Given the description of an element on the screen output the (x, y) to click on. 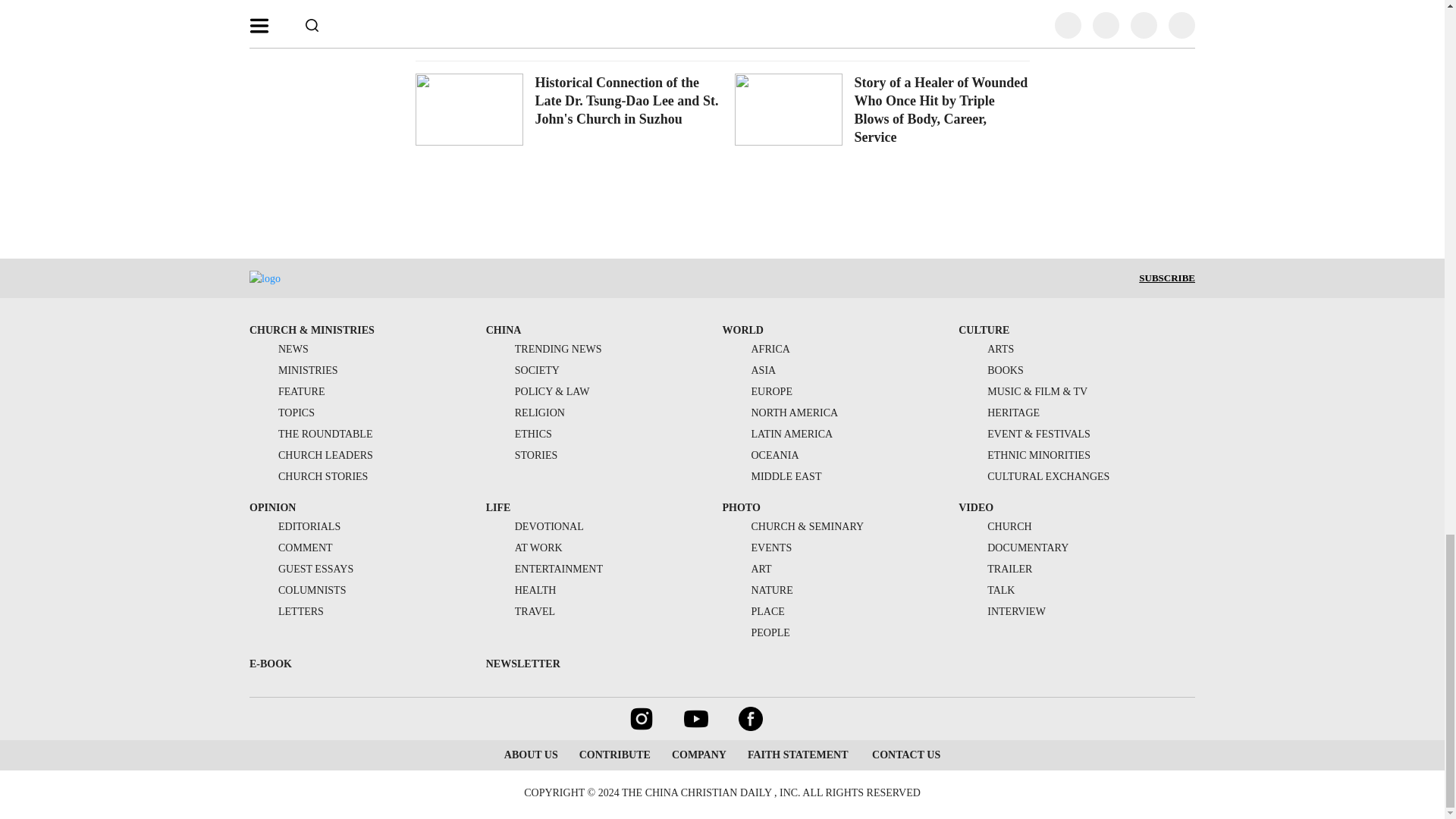
MINISTRIES (292, 369)
CHURCH LEADERS (310, 455)
THE ROUNDTABLE (310, 433)
FEATURE (286, 391)
TOPICS (281, 412)
CHURCH STORIES (308, 476)
NEWS (278, 348)
